Given the description of an element on the screen output the (x, y) to click on. 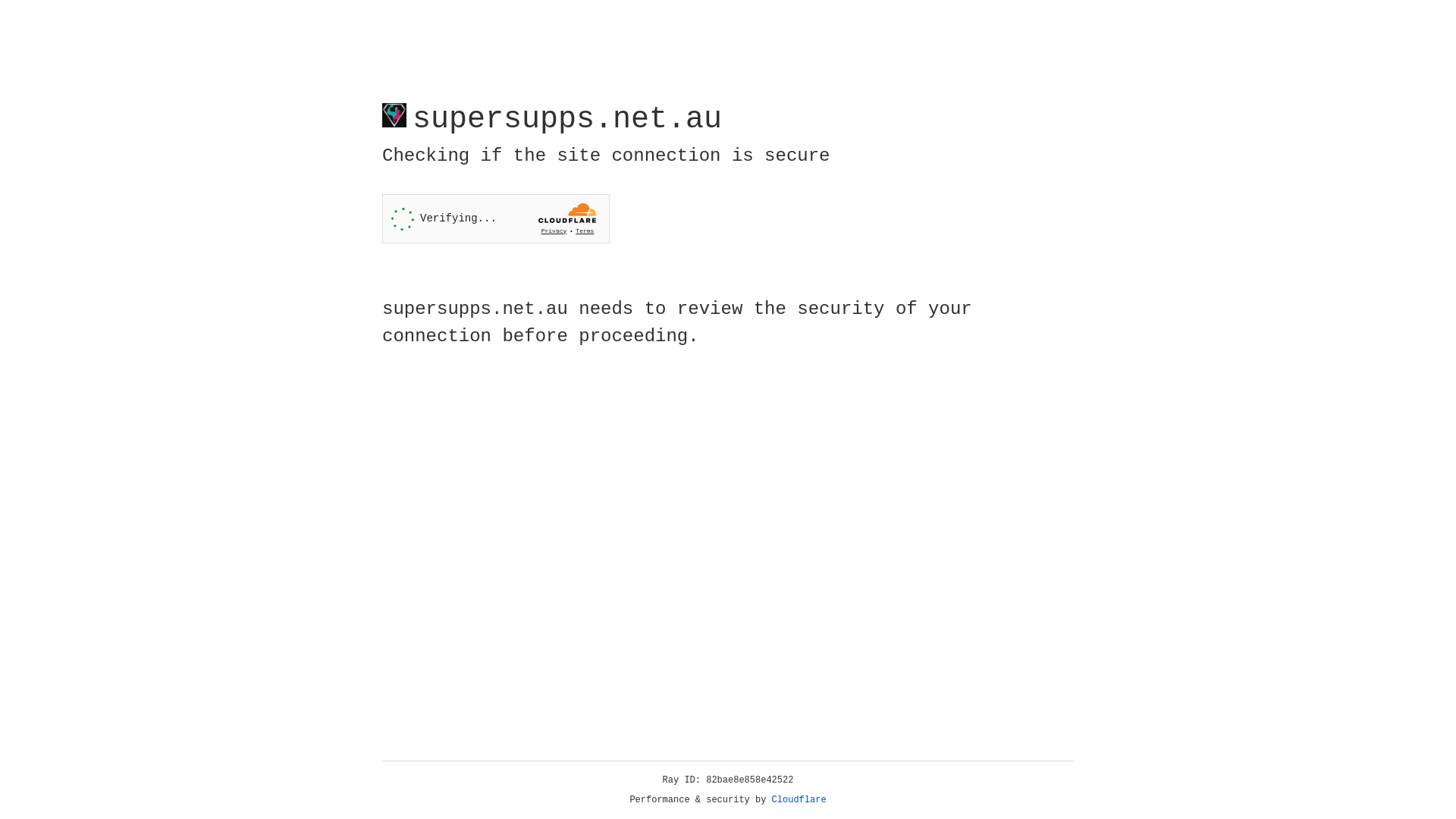
Cloudflare Element type: text (798, 799)
Widget containing a Cloudflare security challenge Element type: hover (495, 218)
